Given the description of an element on the screen output the (x, y) to click on. 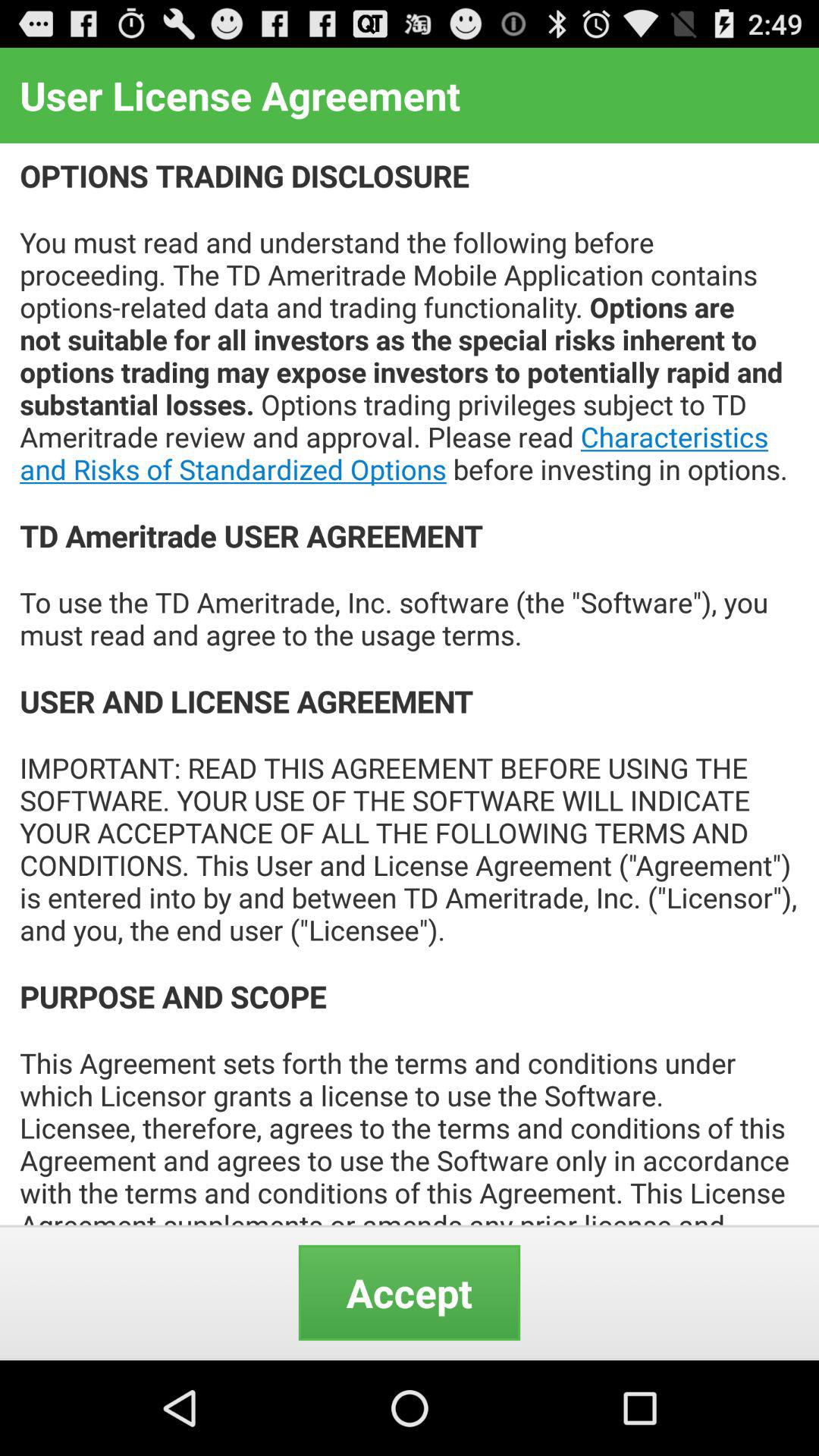
flip to options trading disclosure (409, 684)
